Given the description of an element on the screen output the (x, y) to click on. 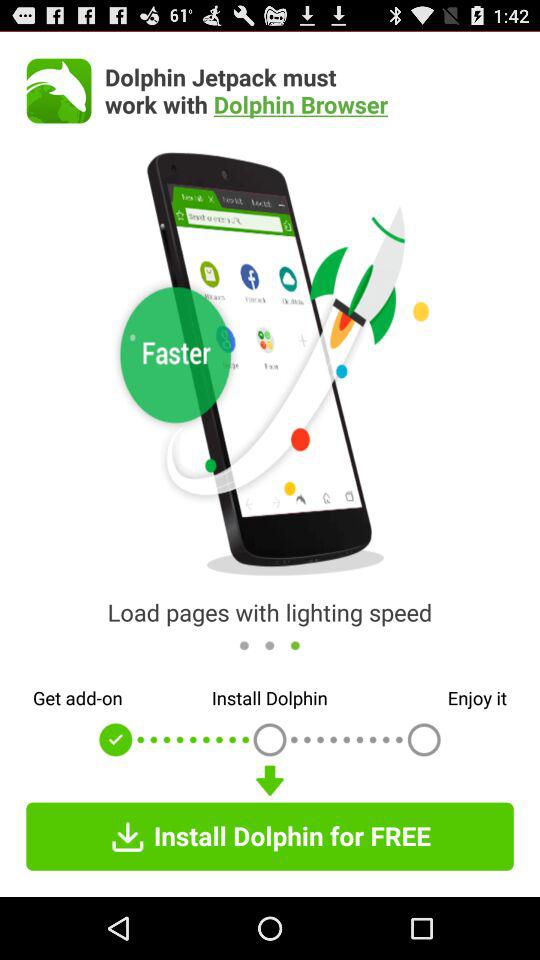
press the app to the left of dolphin jetpack must icon (58, 90)
